Given the description of an element on the screen output the (x, y) to click on. 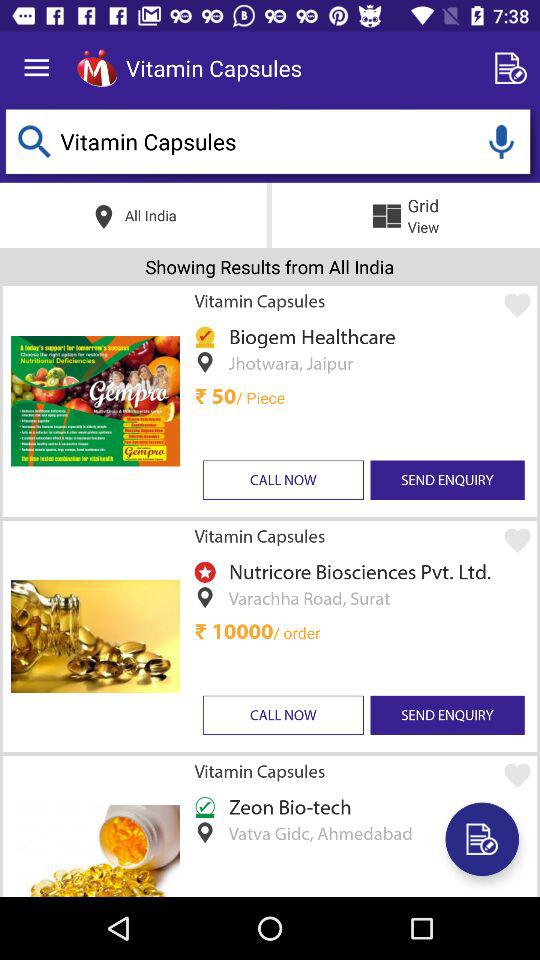
select icon above the jhotwara, jaipur item (308, 336)
